Given the description of an element on the screen output the (x, y) to click on. 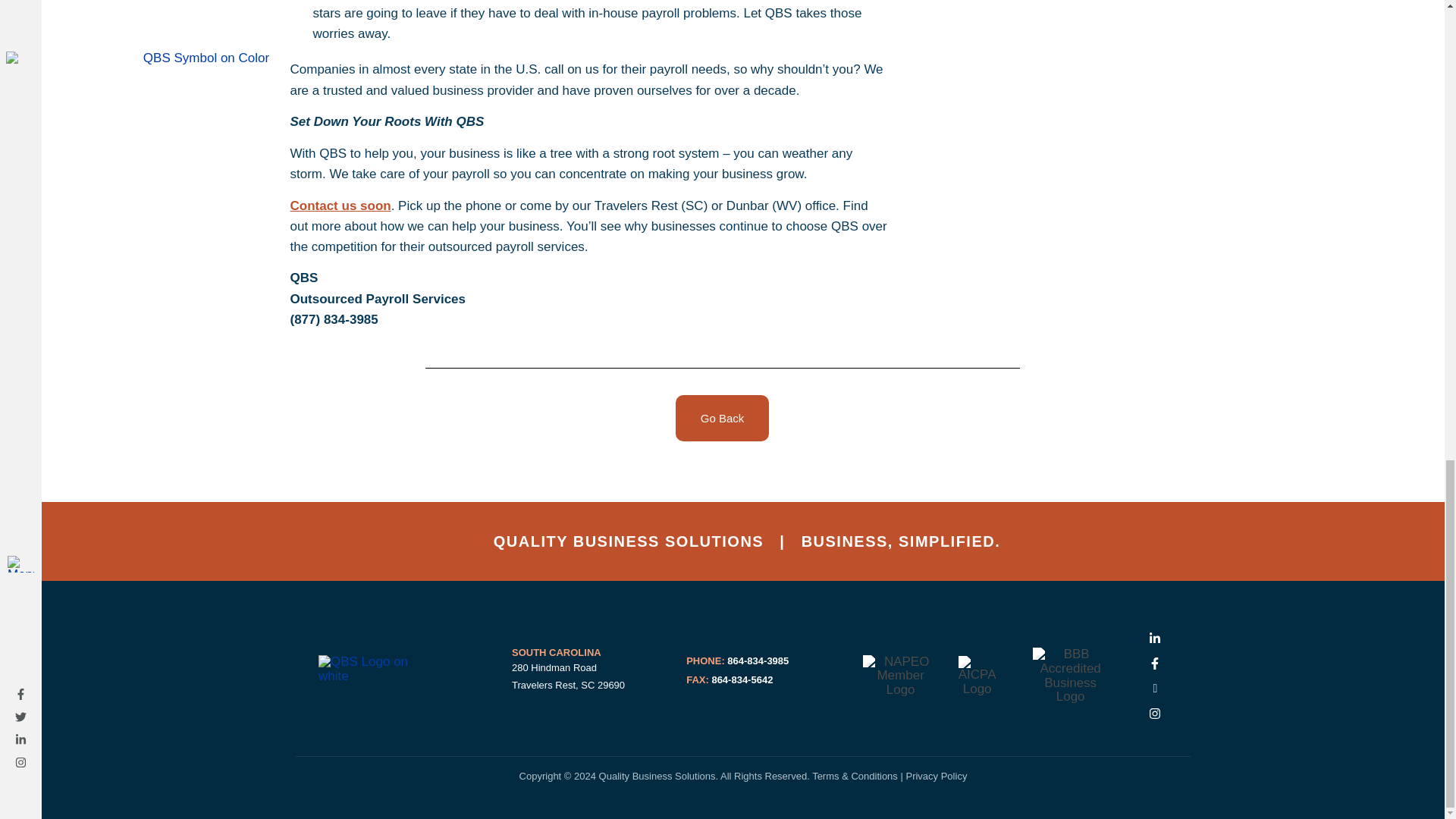
Travelers Rest, SC 29690 (568, 685)
Contact us soon (339, 205)
280 Hindman Road (554, 667)
864-834-5642 (741, 679)
864-834-3985 (757, 660)
Privacy Policy (935, 776)
aicpa.png (976, 676)
Go Back (722, 417)
